Given the description of an element on the screen output the (x, y) to click on. 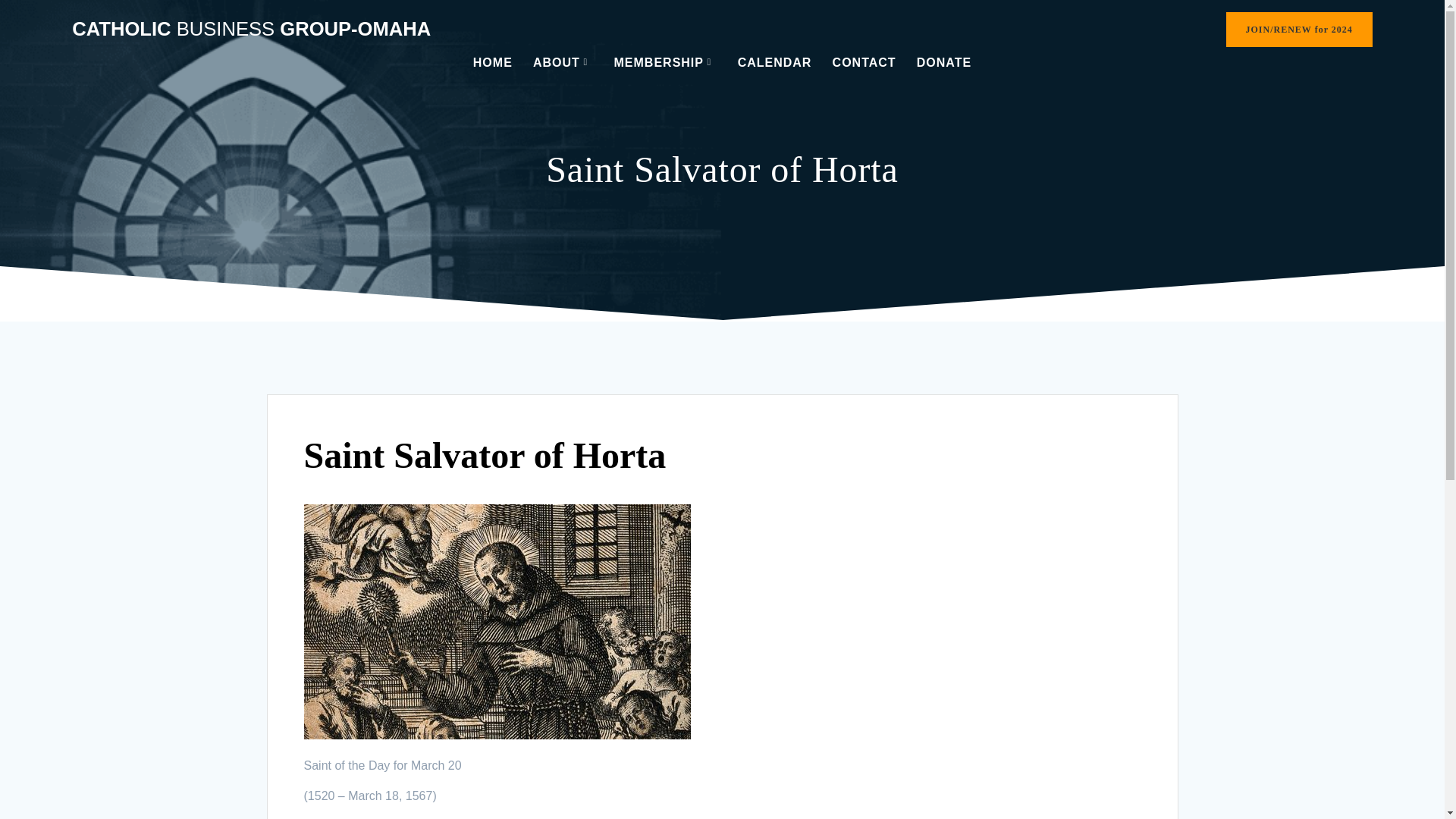
MEMBERSHIP (665, 62)
CALENDAR (775, 62)
HOME (492, 62)
ABOUT (562, 62)
CATHOLIC BUSINESS GROUP-OMAHA (250, 29)
DONATE (944, 62)
CONTACT (864, 62)
